Given the description of an element on the screen output the (x, y) to click on. 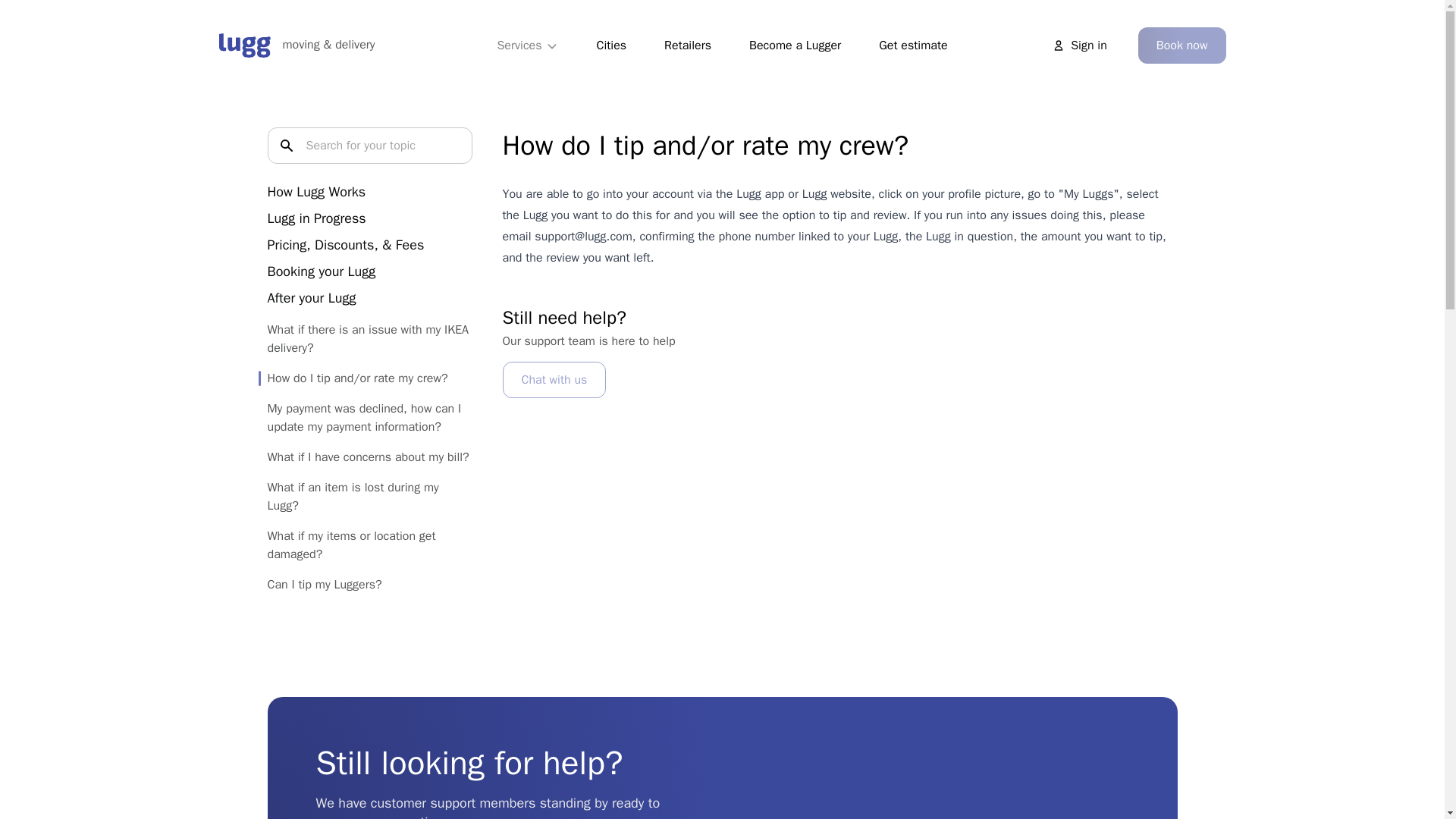
Get estimate (912, 45)
Book now (1181, 45)
Retailers (687, 45)
How Lugg Works (315, 191)
Services (527, 45)
Become a Lugger (794, 45)
Cities (611, 45)
Sign in (1079, 45)
Lugg in Progress (315, 217)
Book now (1182, 45)
